Given the description of an element on the screen output the (x, y) to click on. 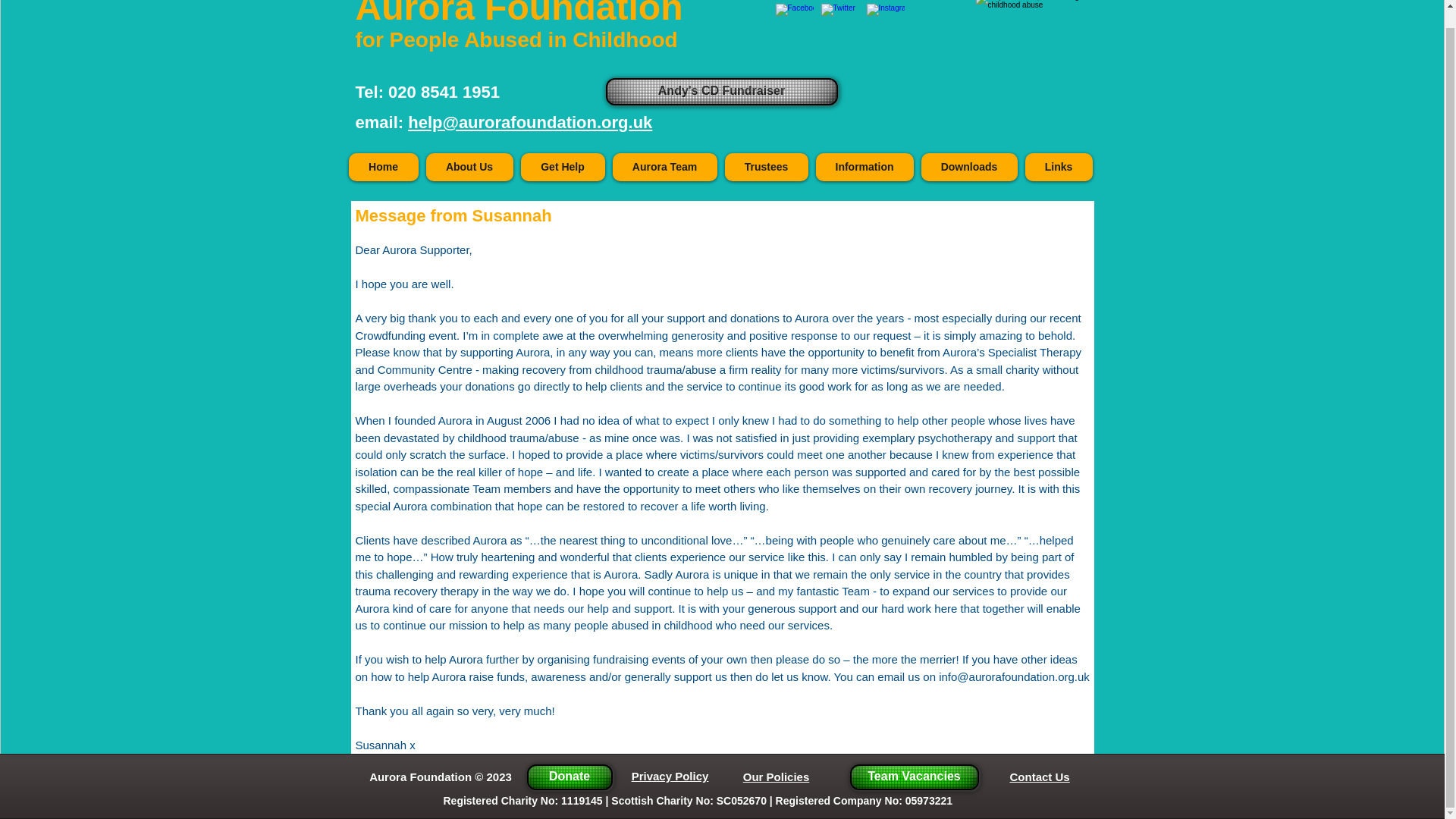
Links (1059, 166)
About Us (469, 166)
Downloads (968, 166)
Trustees (766, 166)
Get Help (561, 166)
Andy's CD Fundraiser (721, 91)
Information (864, 166)
Home (384, 166)
Aurora Team (664, 166)
